Given the description of an element on the screen output the (x, y) to click on. 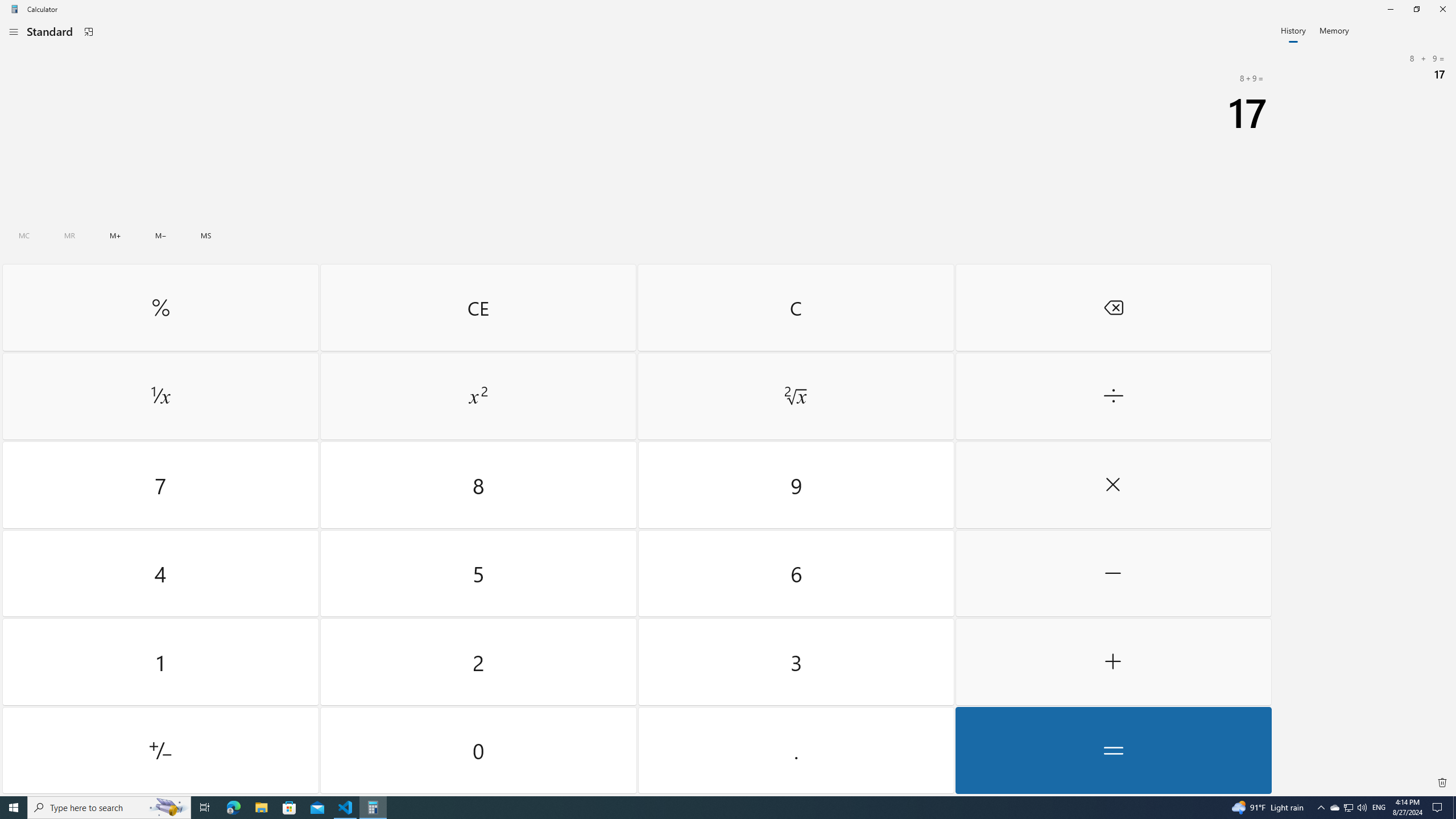
Minus (1113, 572)
Notification Chevron (1320, 807)
User Promoted Notification Area (1347, 807)
Memory add (115, 235)
Start (13, 807)
Clear all history (1441, 782)
8 + 9= 17 (1364, 66)
One (160, 661)
Calculator - 1 running window (373, 807)
Show desktop (1454, 807)
Positive negative (1347, 807)
Square (160, 749)
Six (478, 396)
Divide by (795, 572)
